Given the description of an element on the screen output the (x, y) to click on. 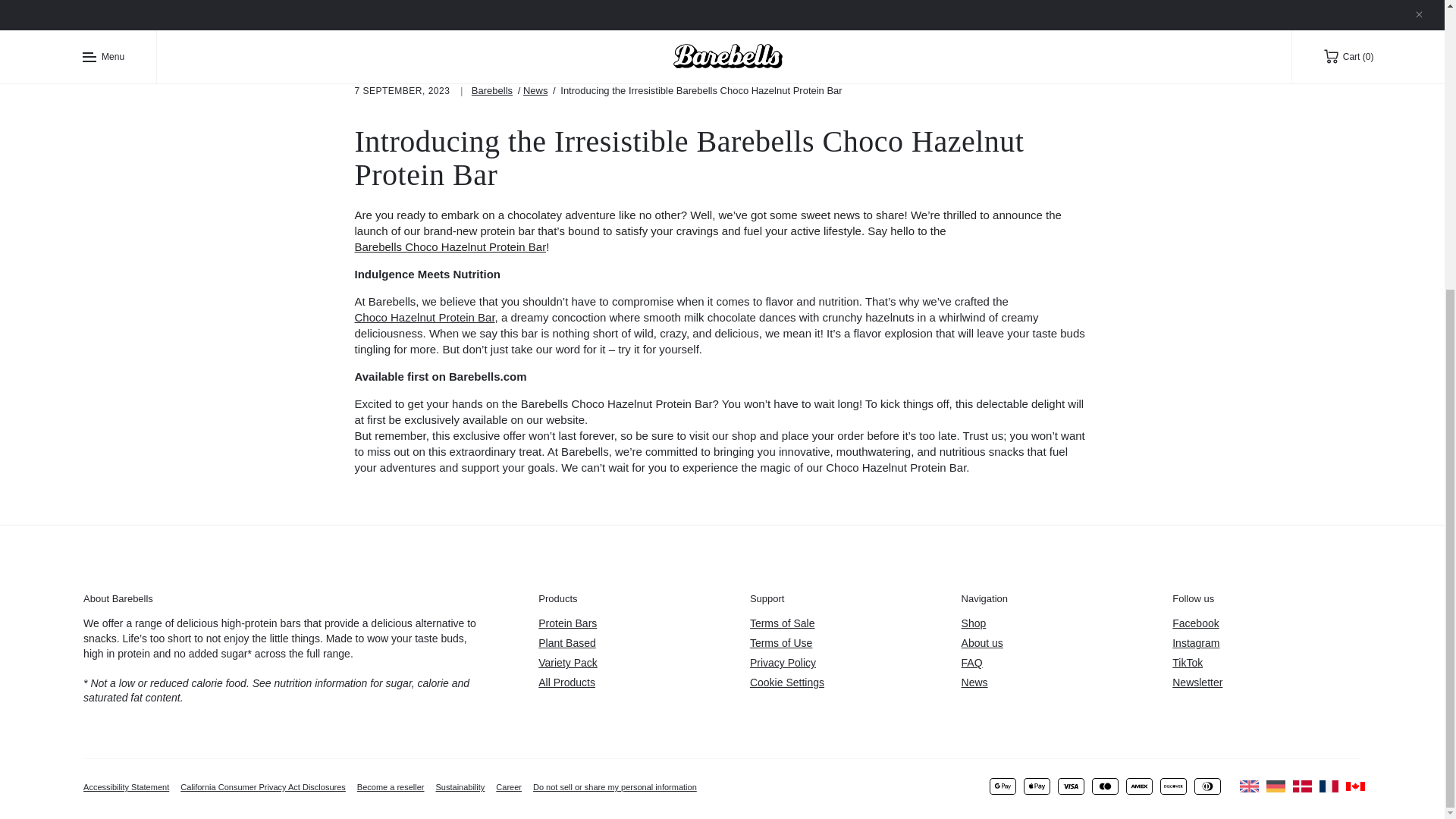
Do not sell or share my personal information (614, 787)
Protein Bars (632, 623)
Plant Based (632, 643)
Opens in a new tab (1266, 623)
Cookie Settings (786, 683)
Shop (1055, 623)
Newsletter (1266, 682)
Barebells (491, 90)
Career (508, 787)
Choco Hazelnut Protein Bar (425, 317)
Opens in a new tab (1266, 643)
TikTok (1266, 662)
Facebook (1266, 623)
Instagram (1266, 643)
Accessibility Statement (125, 787)
